Given the description of an element on the screen output the (x, y) to click on. 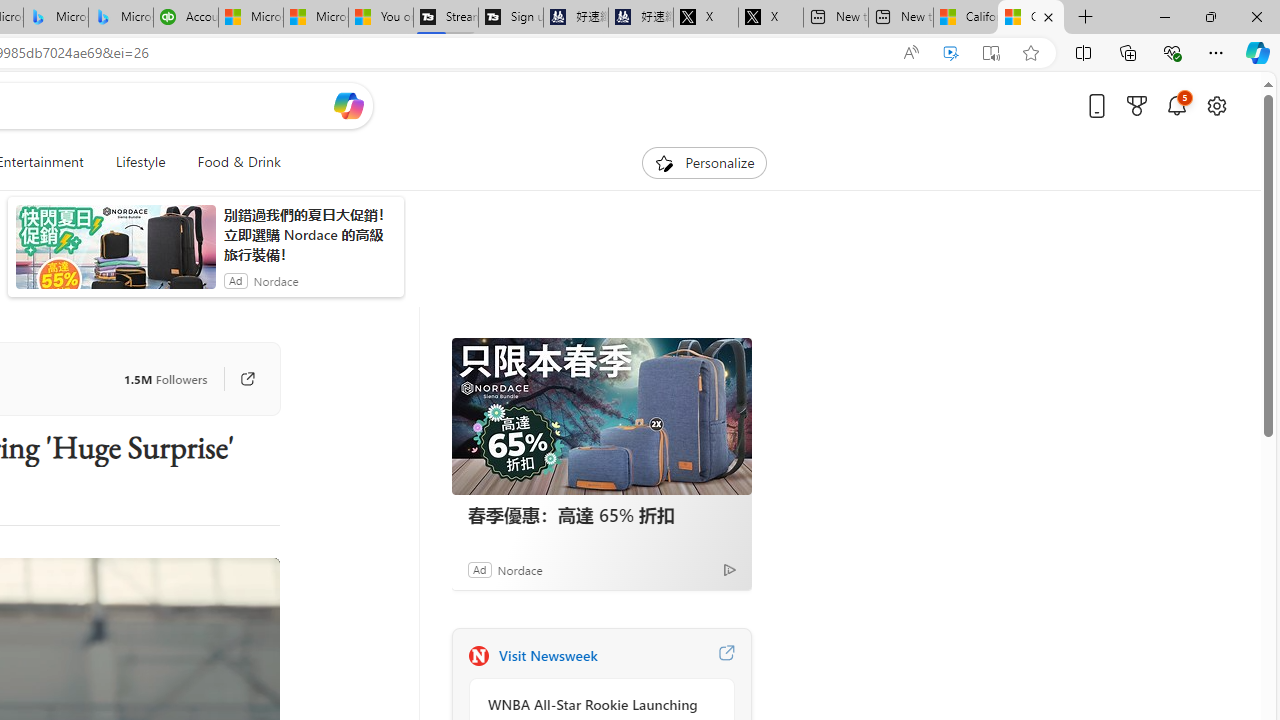
Visit Newsweek website (726, 655)
Enter Immersive Reader (F9) (991, 53)
Newsweek (478, 655)
anim-content (115, 255)
